Given the description of an element on the screen output the (x, y) to click on. 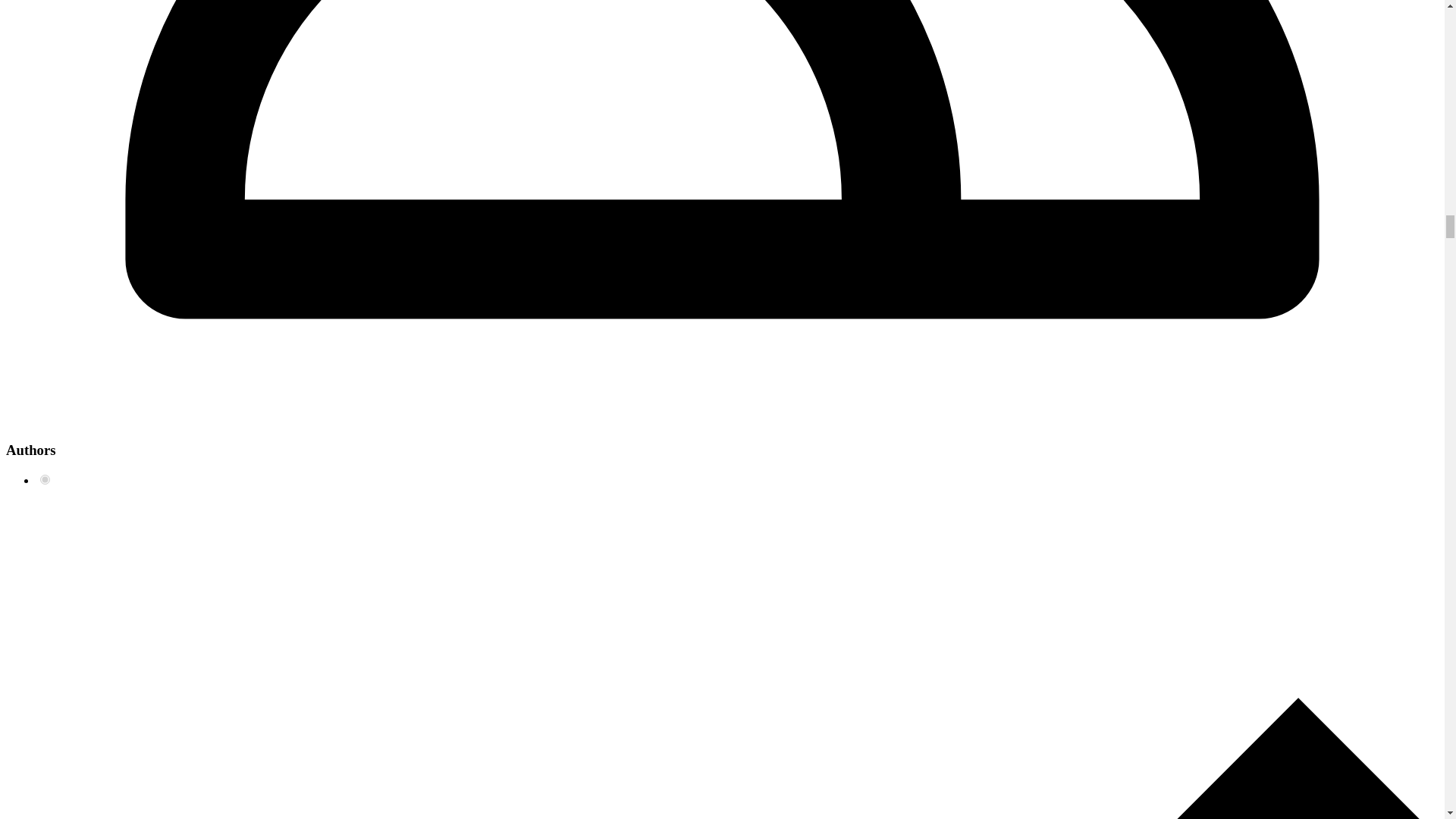
Summers, M. K. (44, 479)
